Given the description of an element on the screen output the (x, y) to click on. 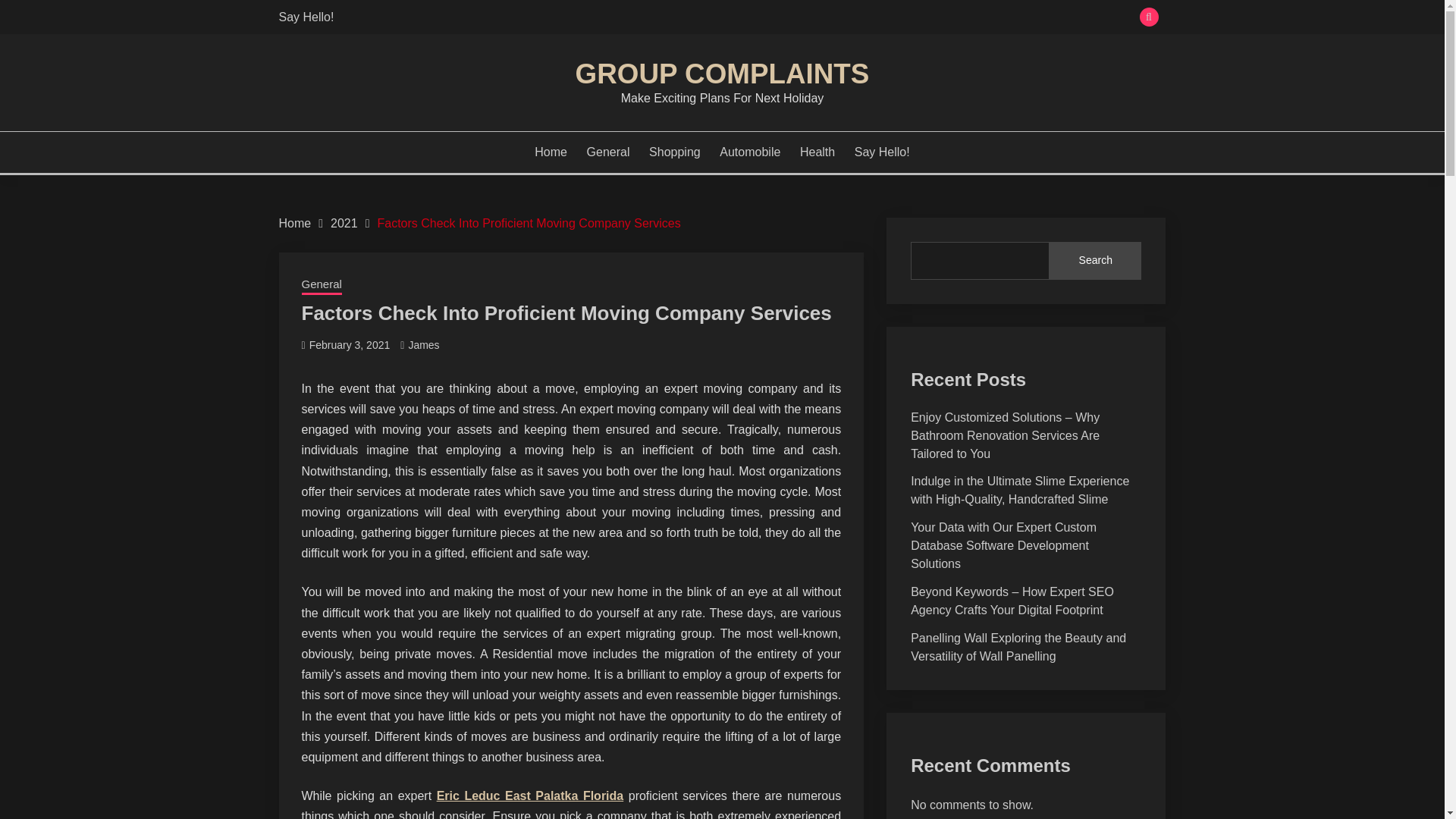
GROUP COMPLAINTS (722, 73)
James (423, 345)
2021 (344, 223)
Say Hello! (882, 152)
Say Hello! (306, 16)
February 3, 2021 (349, 345)
General (608, 152)
Search (1095, 260)
Factors Check Into Proficient Moving Company Services (528, 223)
Shopping (674, 152)
General (321, 285)
Home (295, 223)
Health (816, 152)
